Given the description of an element on the screen output the (x, y) to click on. 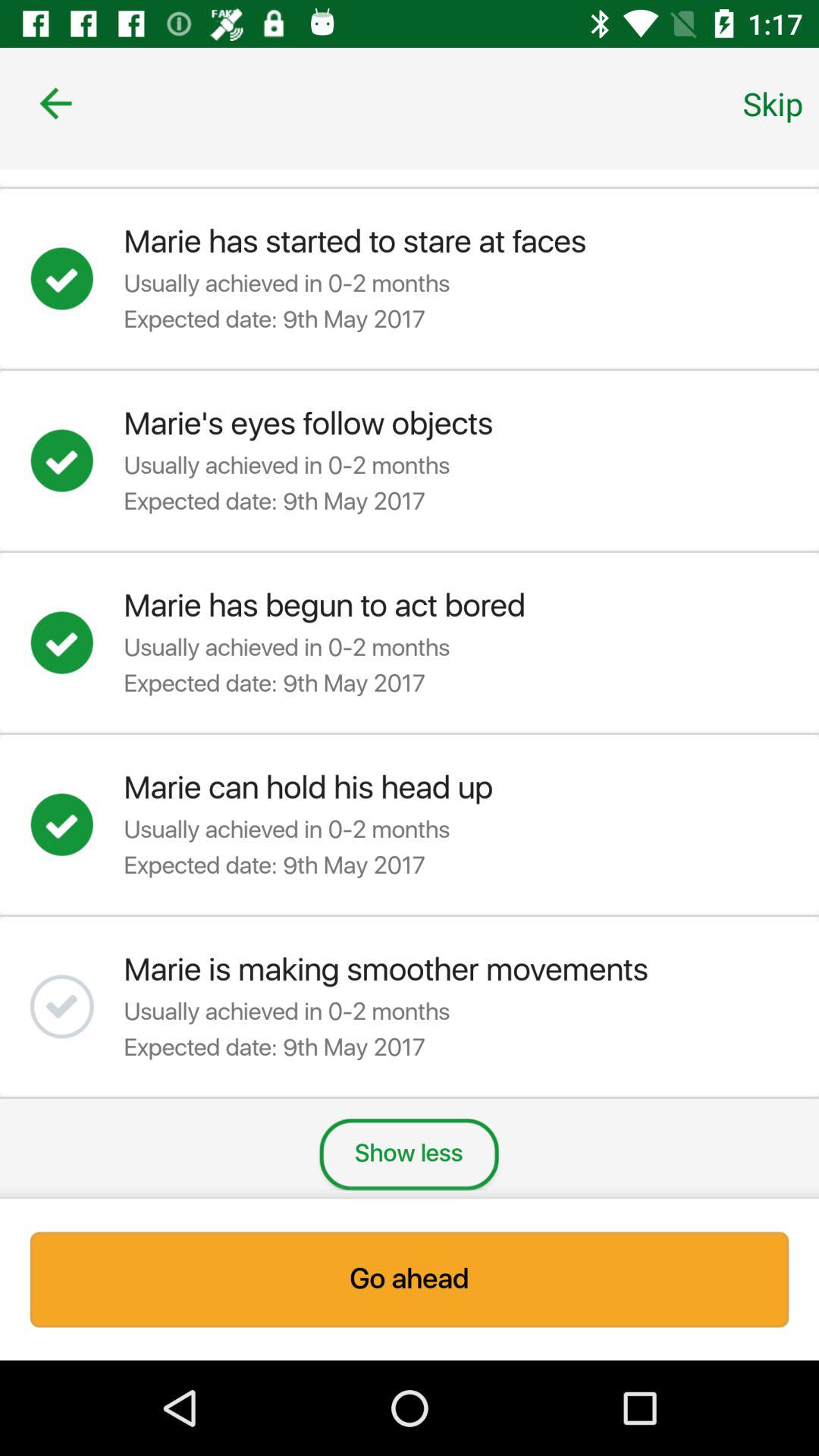
jump until go ahead icon (409, 1279)
